Given the description of an element on the screen output the (x, y) to click on. 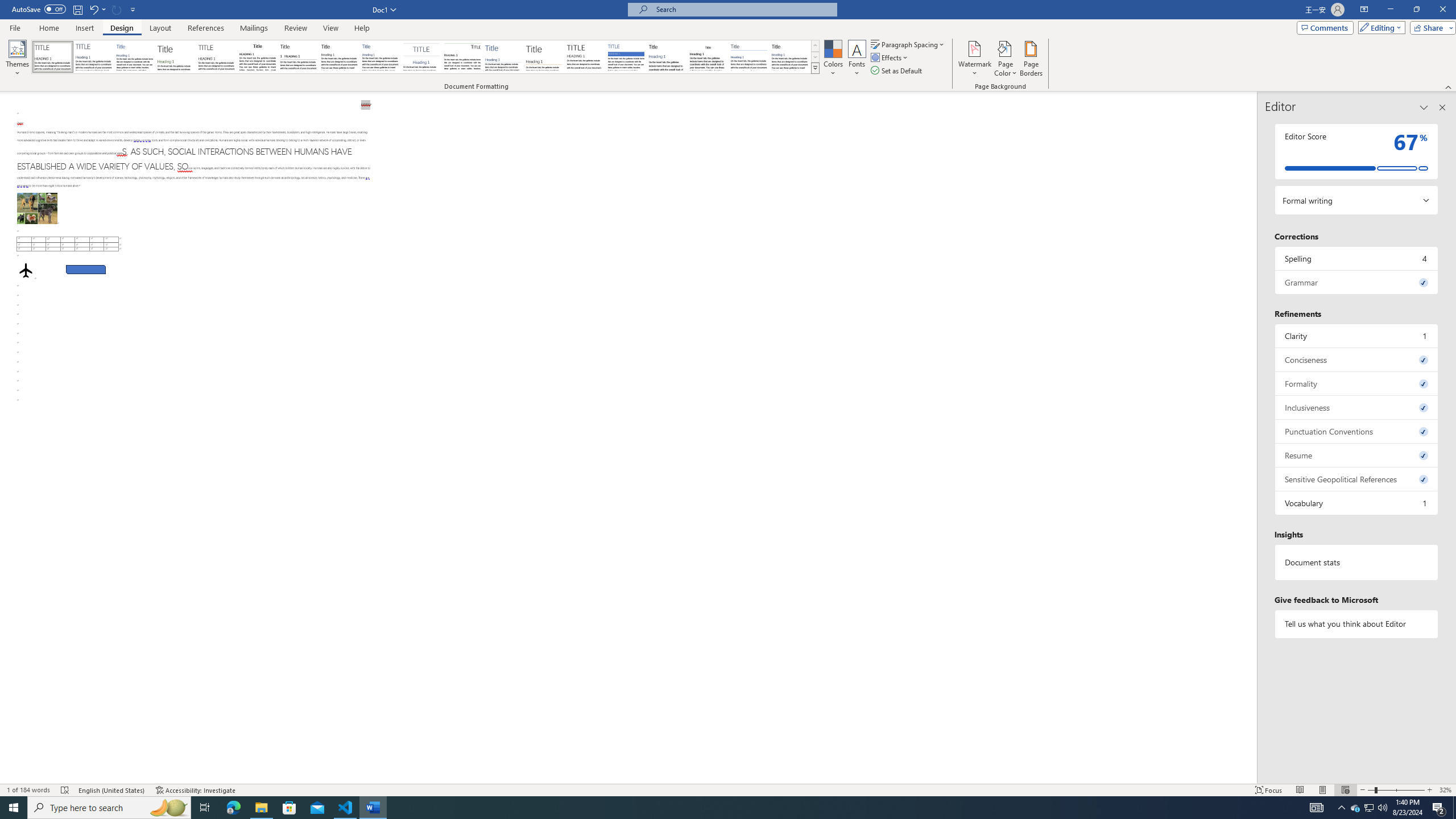
Morphological variation in six dogs (36, 208)
Black & White (Word 2013) (338, 56)
Minimalist (584, 56)
Fonts (856, 58)
Spelling and Grammar Check Errors (65, 790)
Clarity, 1 issue. Press space or enter to review items. (1356, 335)
Microsoft search (742, 9)
